Given the description of an element on the screen output the (x, y) to click on. 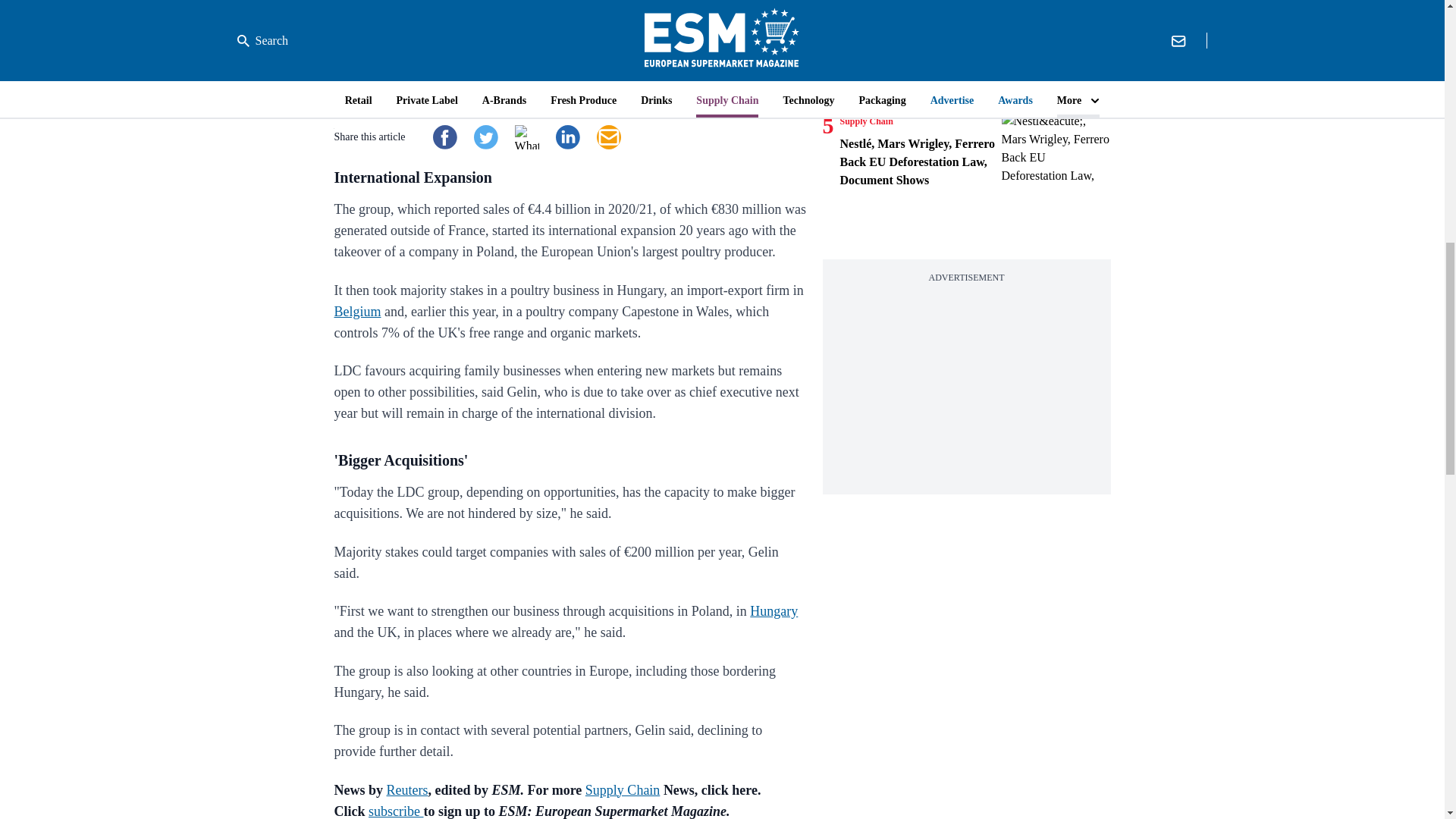
Hungary (773, 611)
Belgium (356, 310)
